Given the description of an element on the screen output the (x, y) to click on. 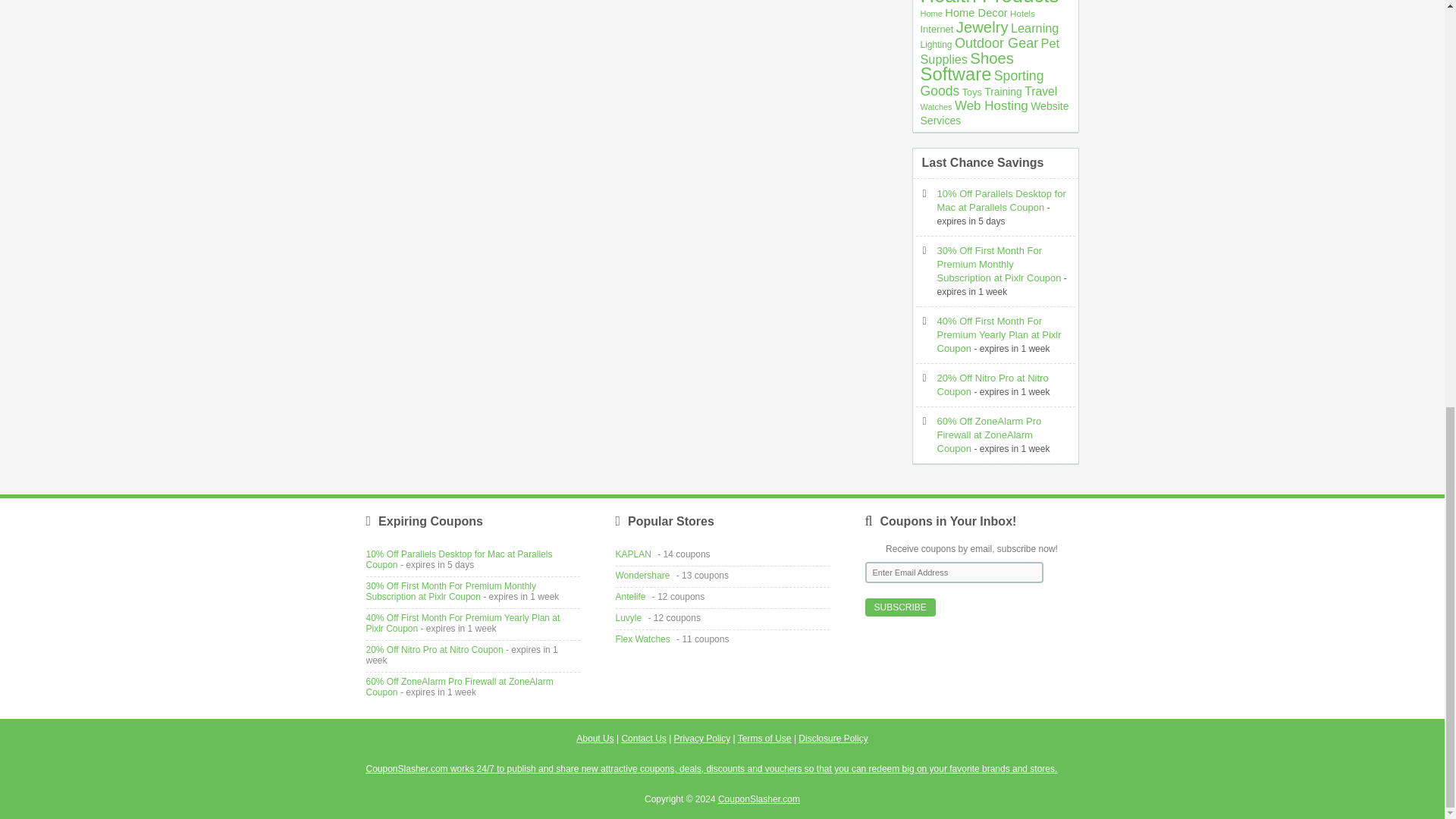
About Us (594, 738)
Subscribe (899, 607)
